Given the description of an element on the screen output the (x, y) to click on. 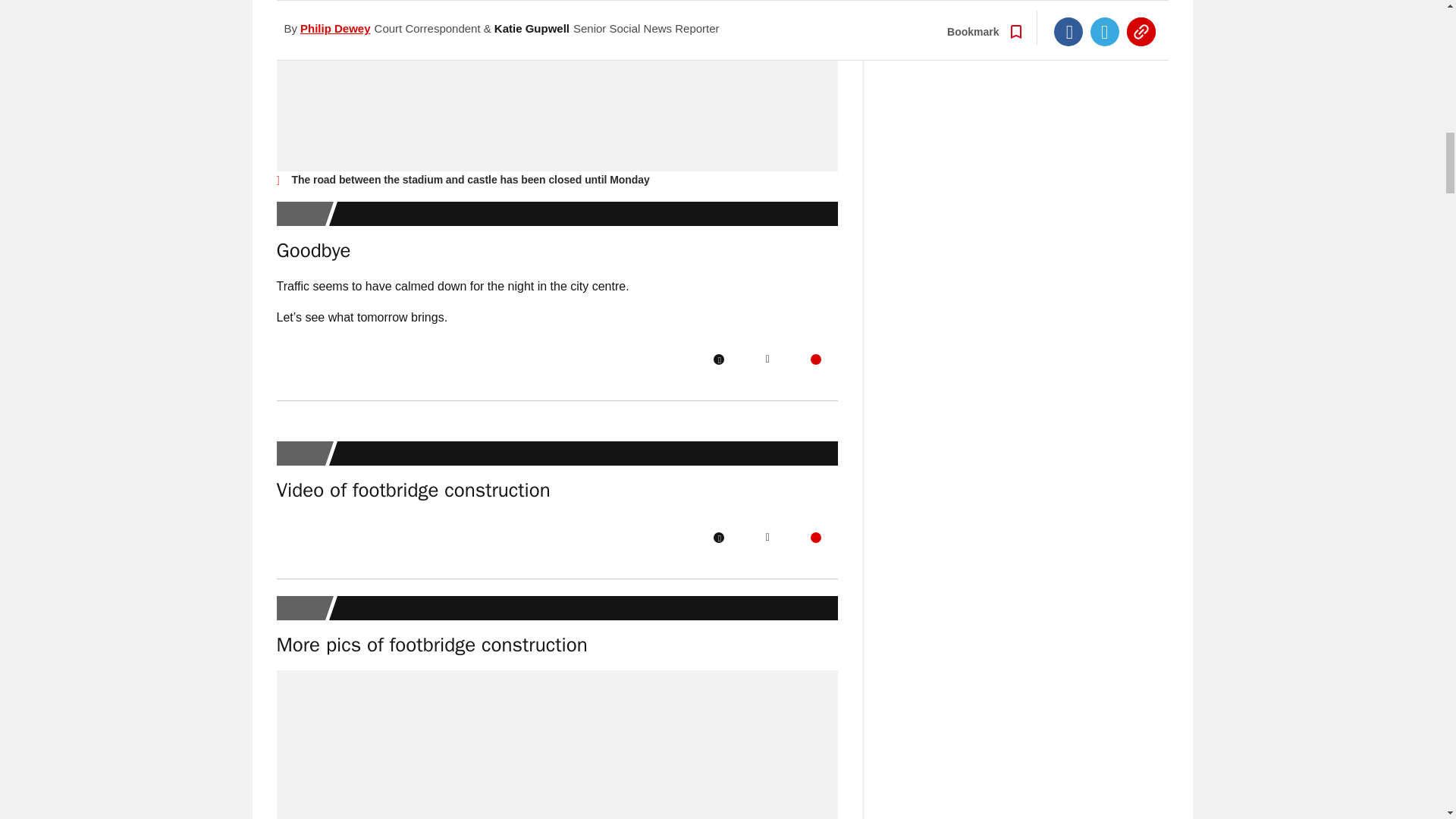
Twitter (767, 537)
Twitter (767, 358)
Facebook (718, 358)
Facebook (718, 537)
